Given the description of an element on the screen output the (x, y) to click on. 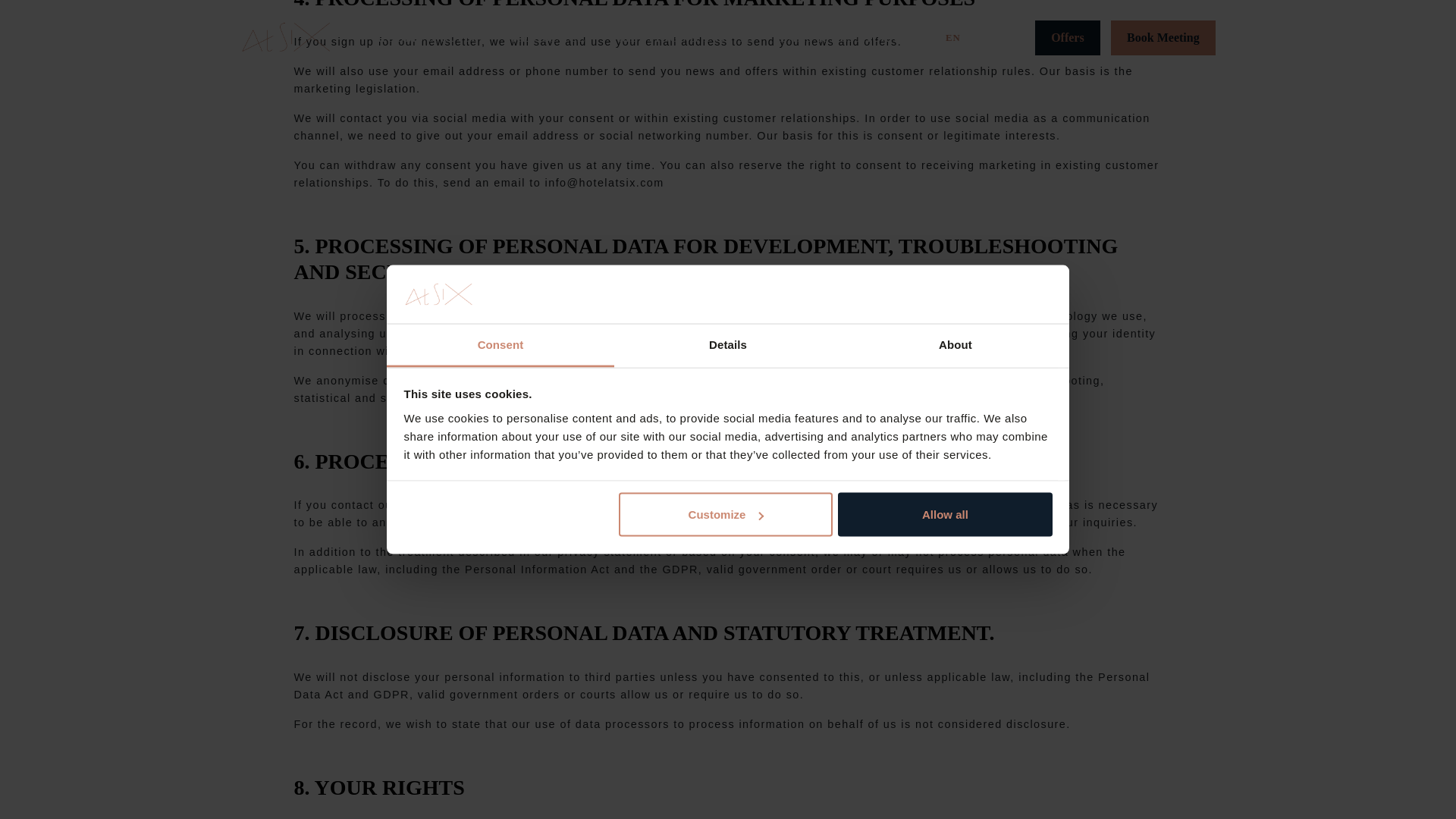
Page 1 (727, 48)
